Given the description of an element on the screen output the (x, y) to click on. 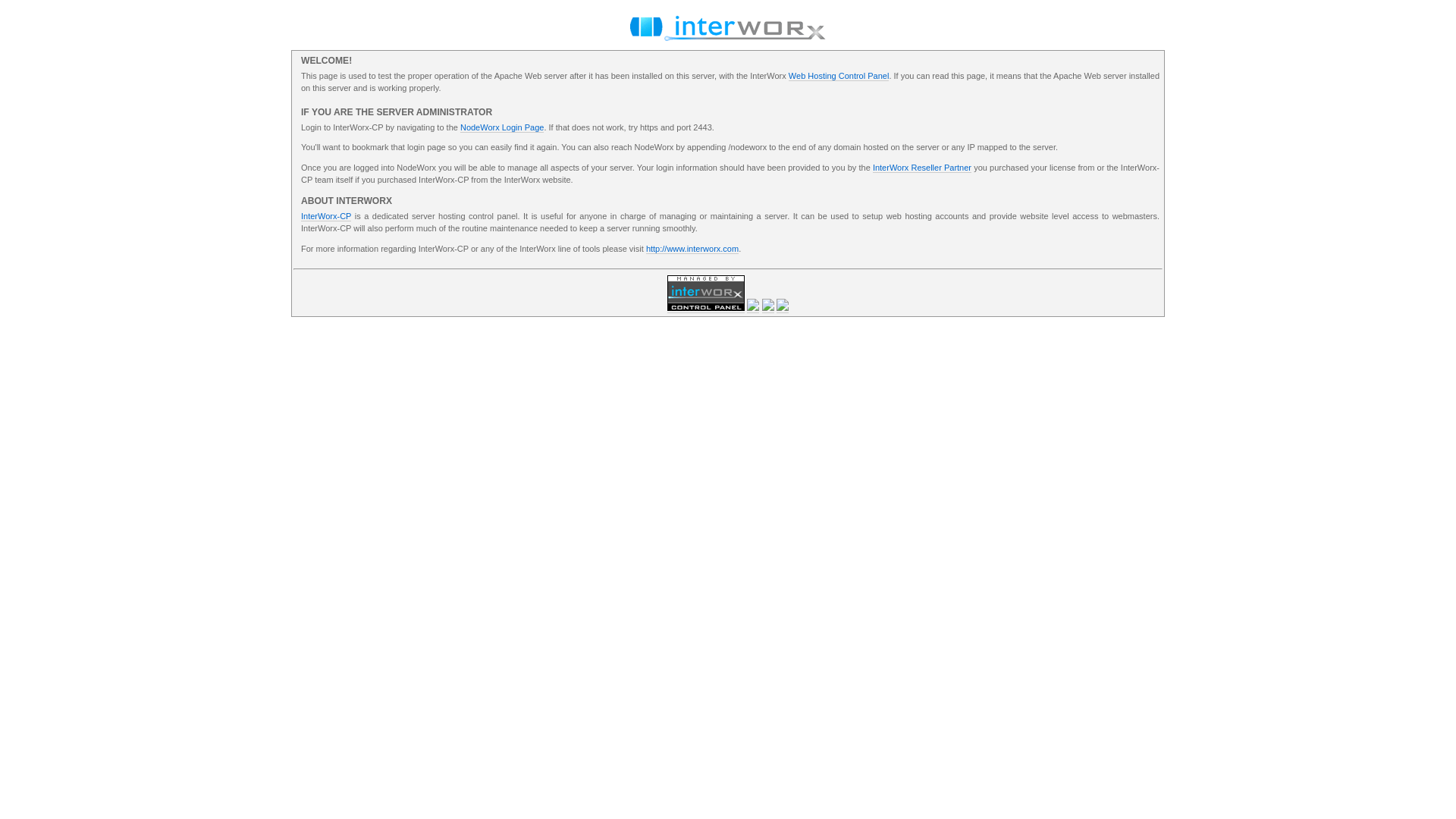
NodeWorx Login Page Element type: text (501, 127)
Web Hosting Control Panel Element type: text (838, 76)
InterWorx Reseller Partner Element type: text (921, 167)
InterWorx-CP Element type: text (326, 216)
http://www.interworx.com Element type: text (692, 249)
